Given the description of an element on the screen output the (x, y) to click on. 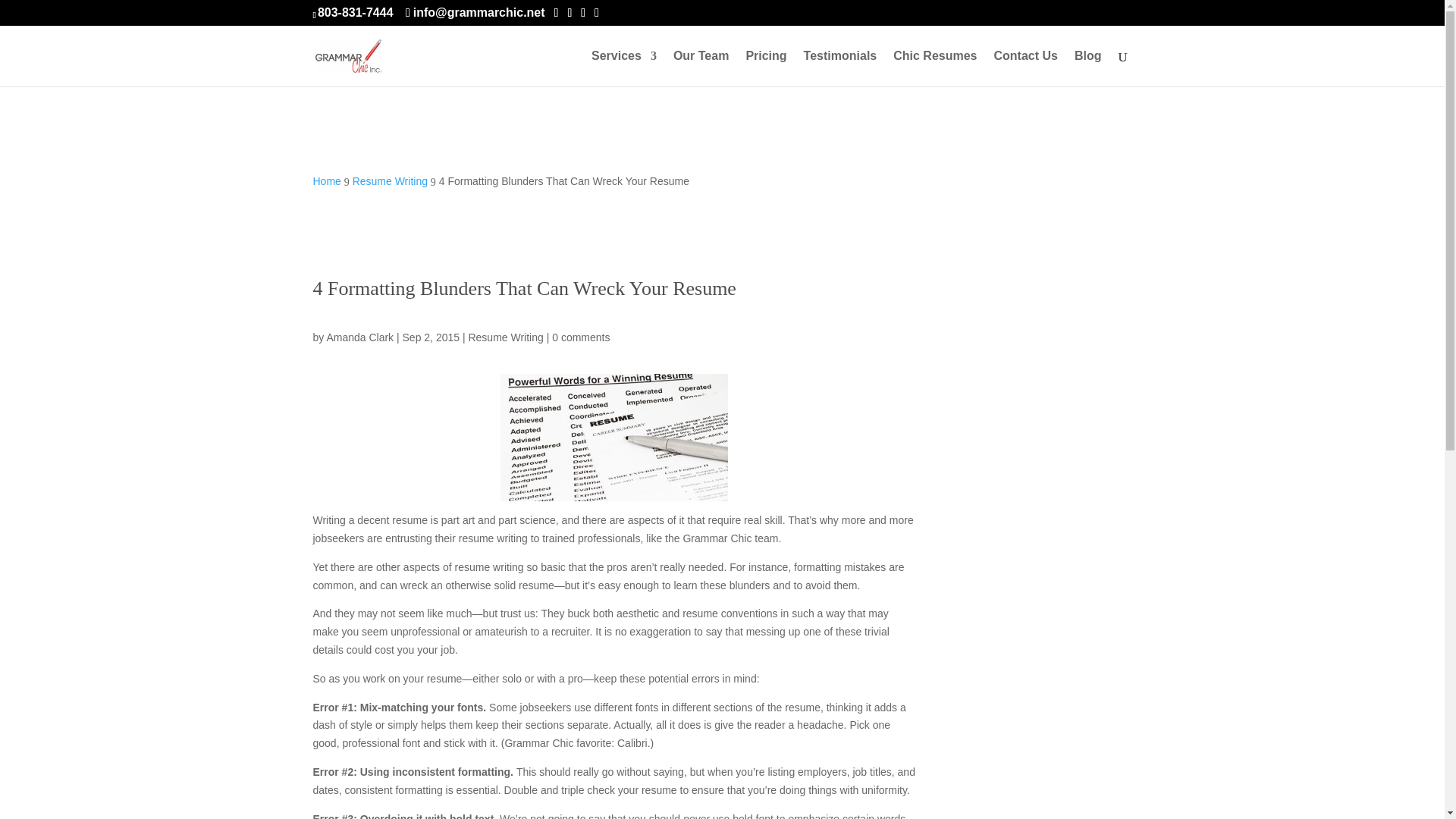
Home (326, 181)
Resume Writing (390, 181)
Our Team (700, 68)
Chic Resumes (934, 68)
Posts by Amanda Clark (359, 337)
Contact Us (1024, 68)
Services (623, 68)
803-831-7444 (355, 11)
Pricing (765, 68)
Testimonials (840, 68)
